Given the description of an element on the screen output the (x, y) to click on. 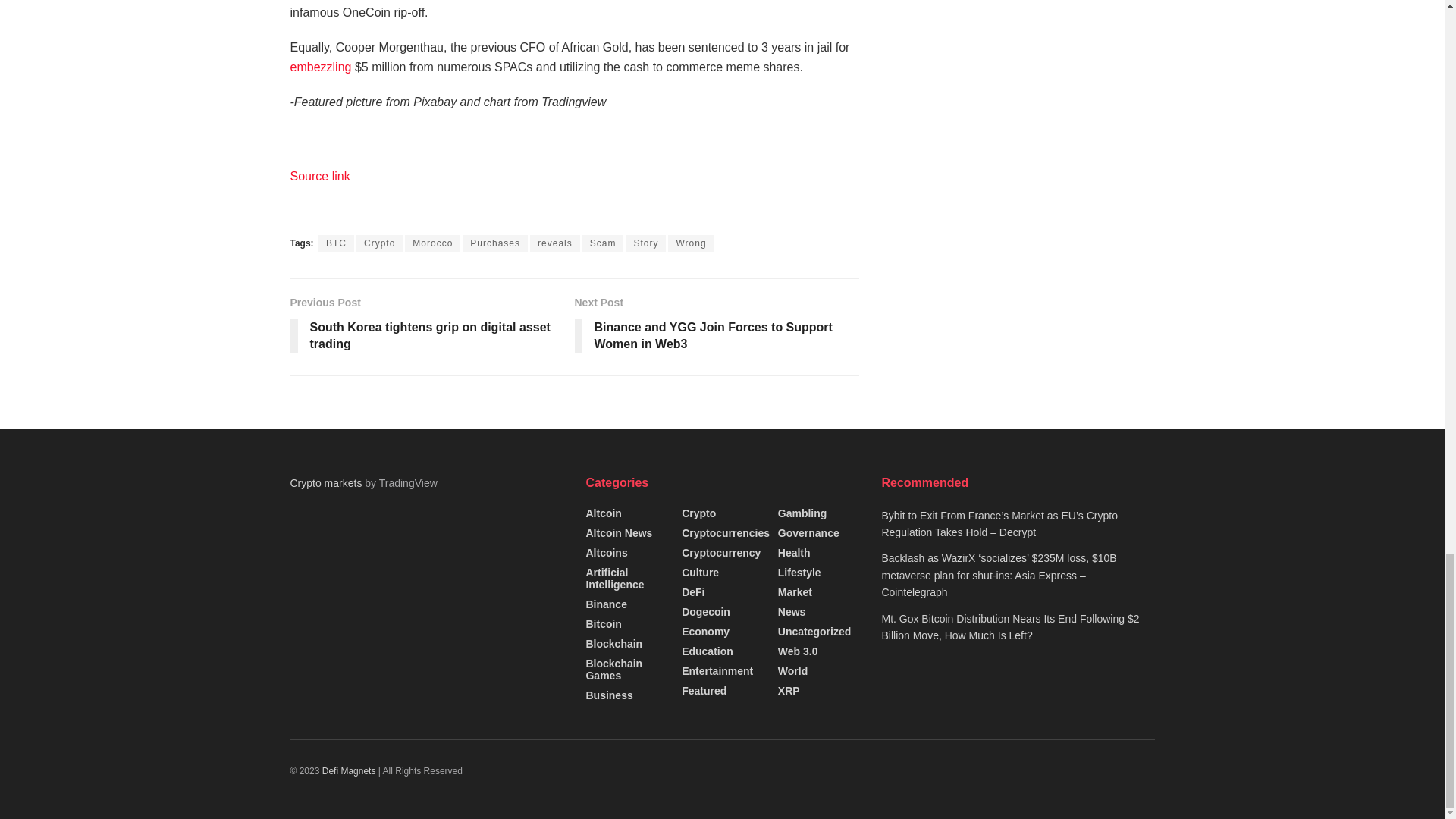
embezzling (319, 66)
Crypto (379, 243)
BTC (335, 243)
Source link (319, 175)
Morocco (432, 243)
Premium news  (349, 770)
